Given the description of an element on the screen output the (x, y) to click on. 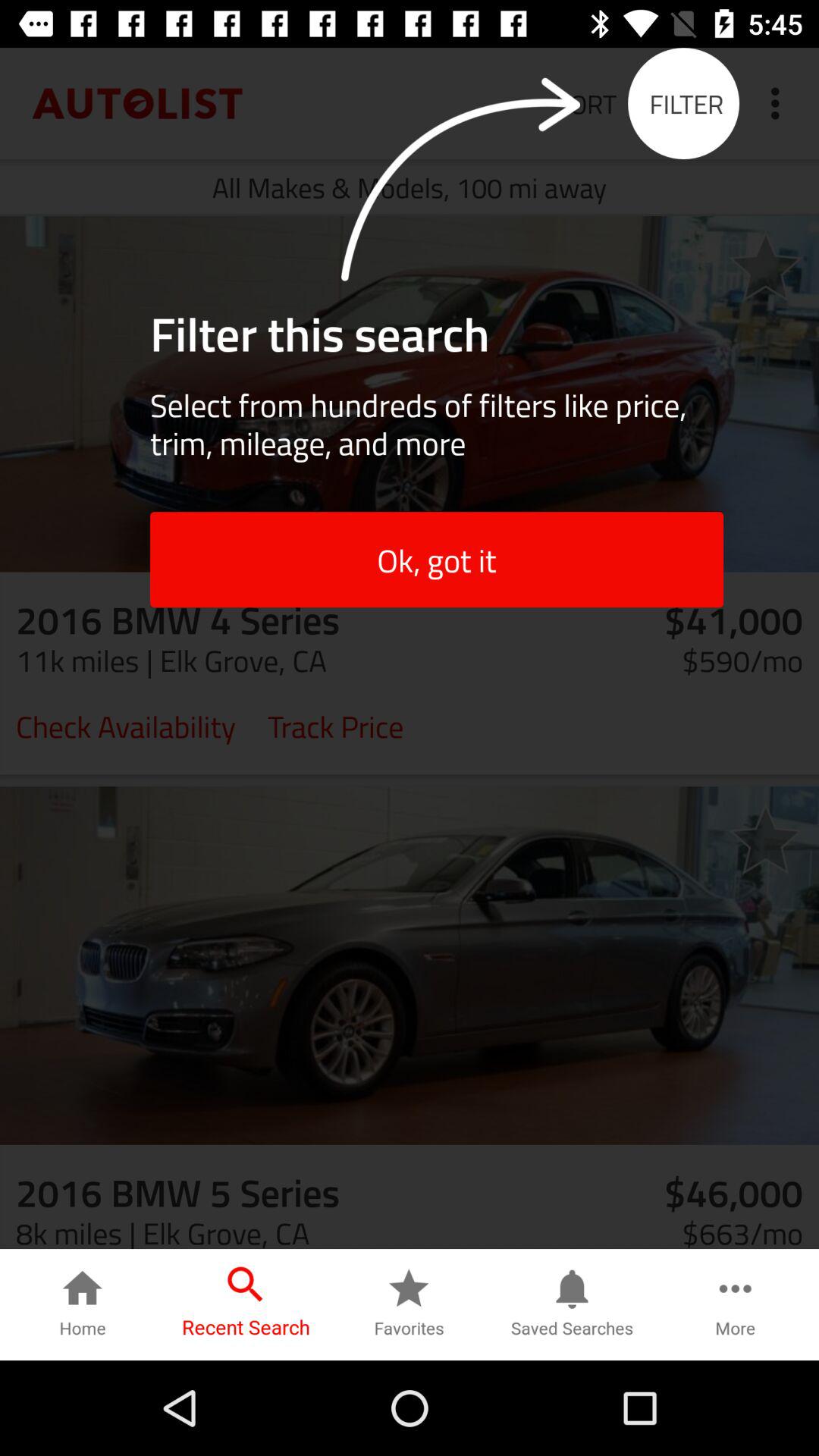
choose check availability (125, 725)
